Given the description of an element on the screen output the (x, y) to click on. 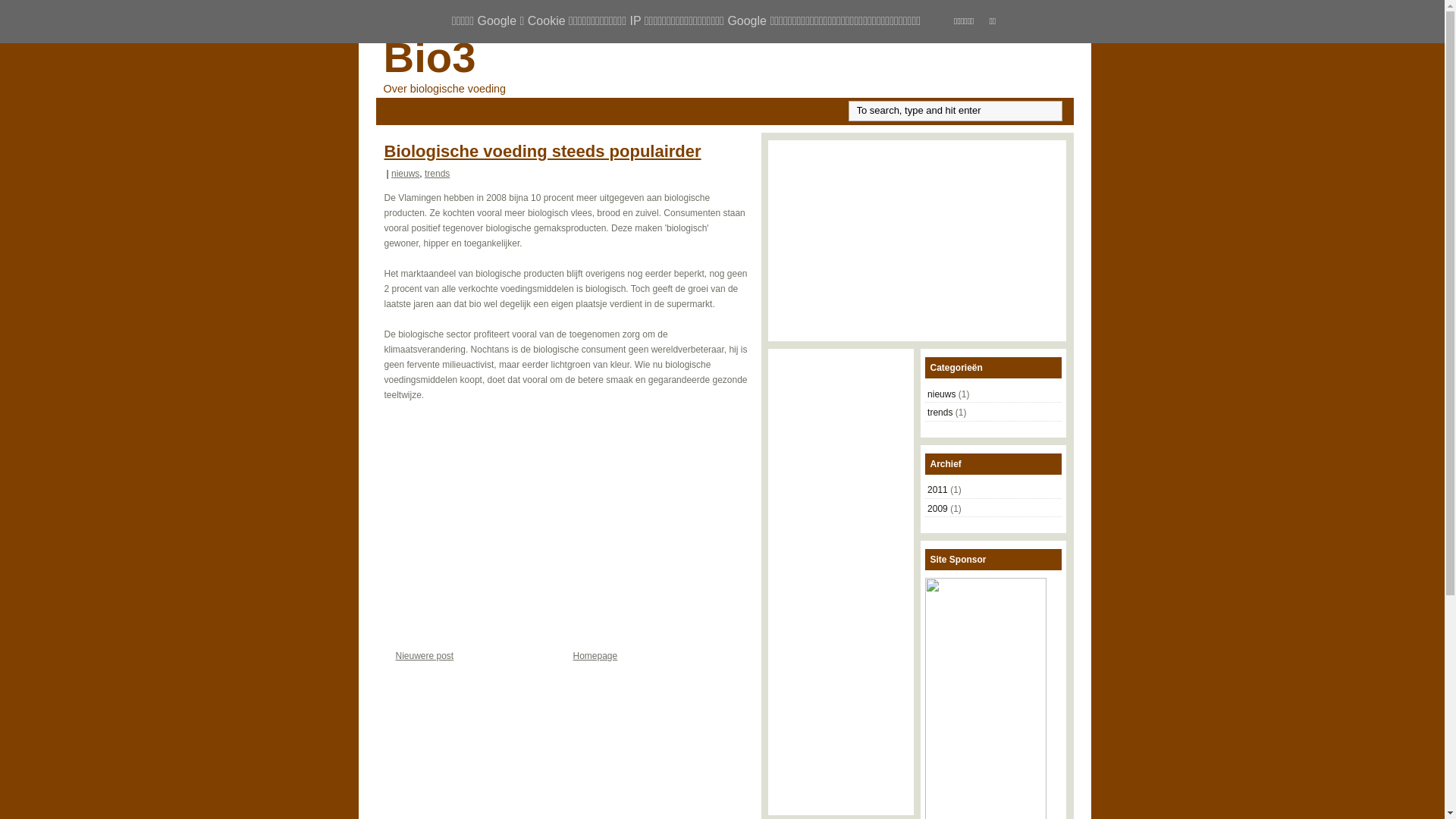
Nieuwere post Element type: text (424, 655)
trends Element type: text (436, 173)
nieuws Element type: text (941, 394)
Bio3 Element type: text (429, 57)
nieuws Element type: text (405, 173)
Biologische voeding steeds populairder Element type: text (541, 150)
Homepage Element type: text (595, 655)
2009 Element type: text (937, 508)
trends Element type: text (939, 412)
2011 Element type: text (937, 489)
